Given the description of an element on the screen output the (x, y) to click on. 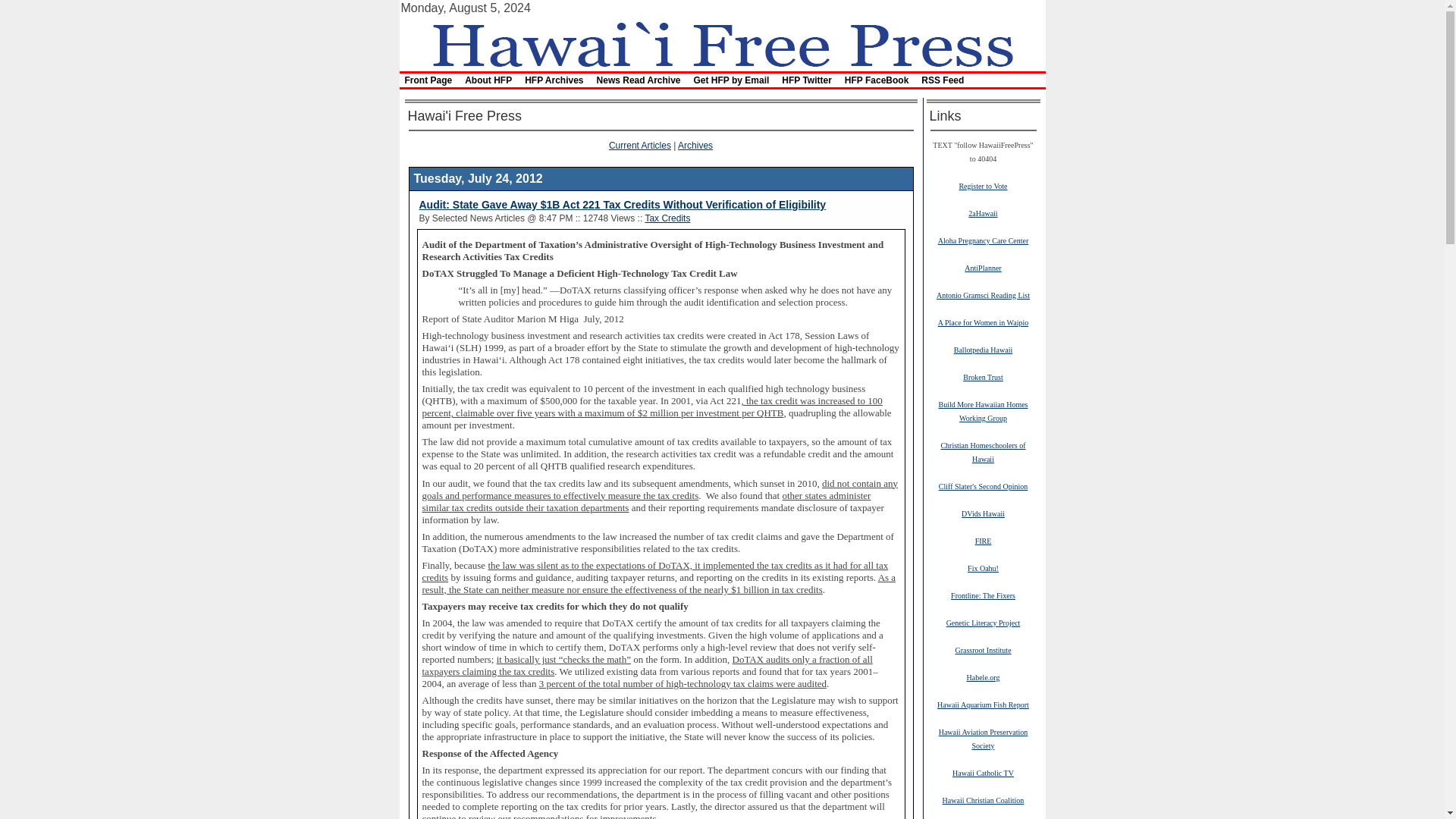
Christian Homeschoolers of Hawaii (982, 451)
Fix Oahu! (983, 567)
Habele.org (983, 676)
Current Articles (639, 145)
Tax Credits (667, 217)
Grassroot Institute (982, 649)
Register to Vote (982, 185)
Hawaii Christian Coalition (983, 799)
Ballotpedia Hawaii (982, 348)
Hawaii Aviation Preservation Society (983, 738)
FIRE (983, 540)
Aloha Pregnancy Care Center (983, 240)
DVids Hawaii (982, 512)
Hawaii Catholic TV (982, 772)
Antonio Gramsci Reading List (982, 294)
